Given the description of an element on the screen output the (x, y) to click on. 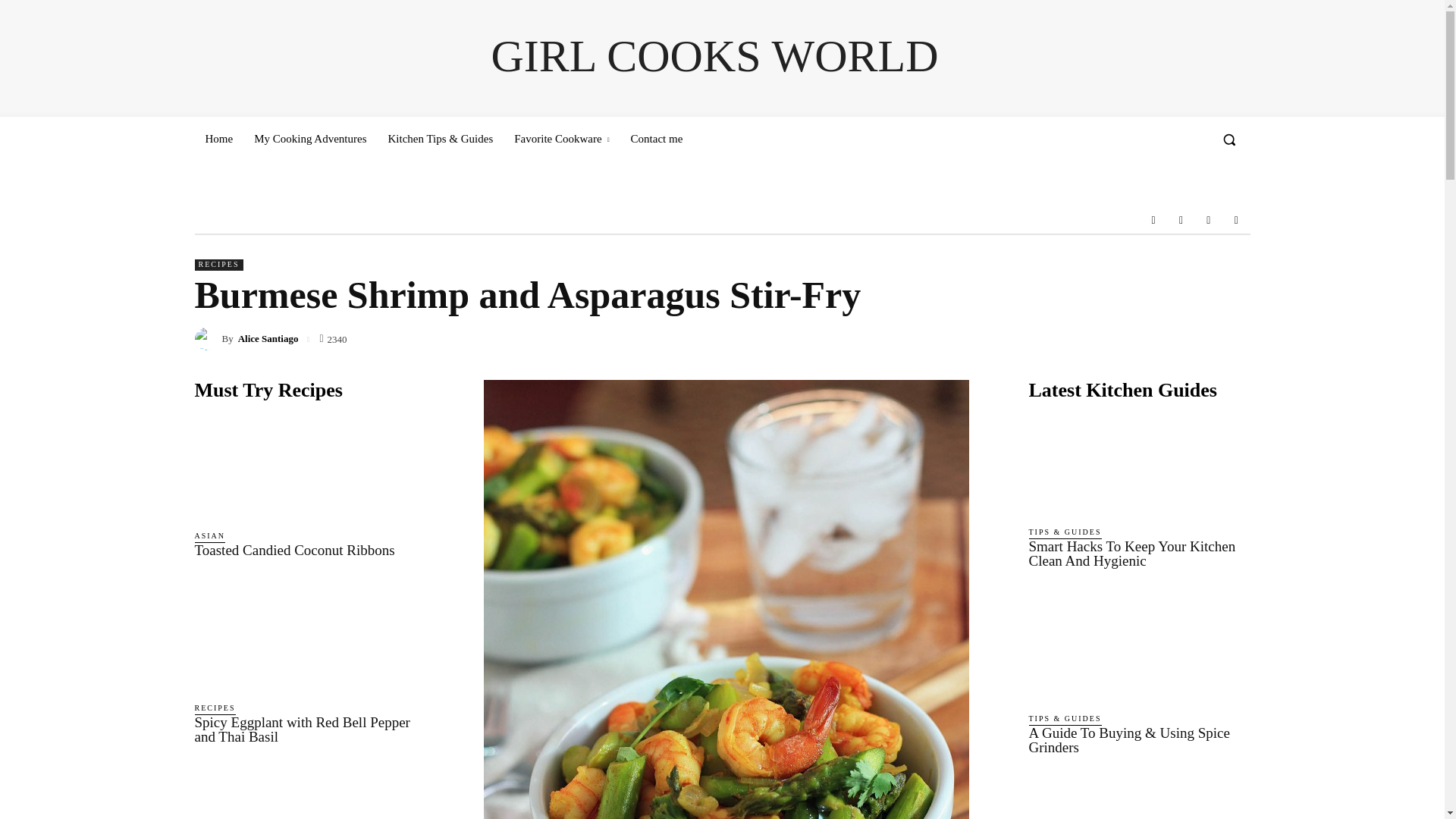
Instagram (1180, 219)
RECIPES (218, 265)
Spicy Eggplant with Red Bell Pepper and Thai Basil (301, 729)
Alice Santiago (207, 338)
Toasted Candied Coconut Ribbons (293, 549)
Home (218, 138)
Toasted Candied Coconut Ribbons (293, 549)
VKontakte (1209, 219)
Spicy Eggplant with Red Bell Pepper and Thai Basil (308, 637)
Favorite Cookware (561, 138)
My Cooking Adventures (310, 138)
Toasted Candied Coconut Ribbons (308, 465)
ASIAN (209, 535)
GIRL COOKS WORLD (713, 55)
Facebook (1153, 219)
